Given the description of an element on the screen output the (x, y) to click on. 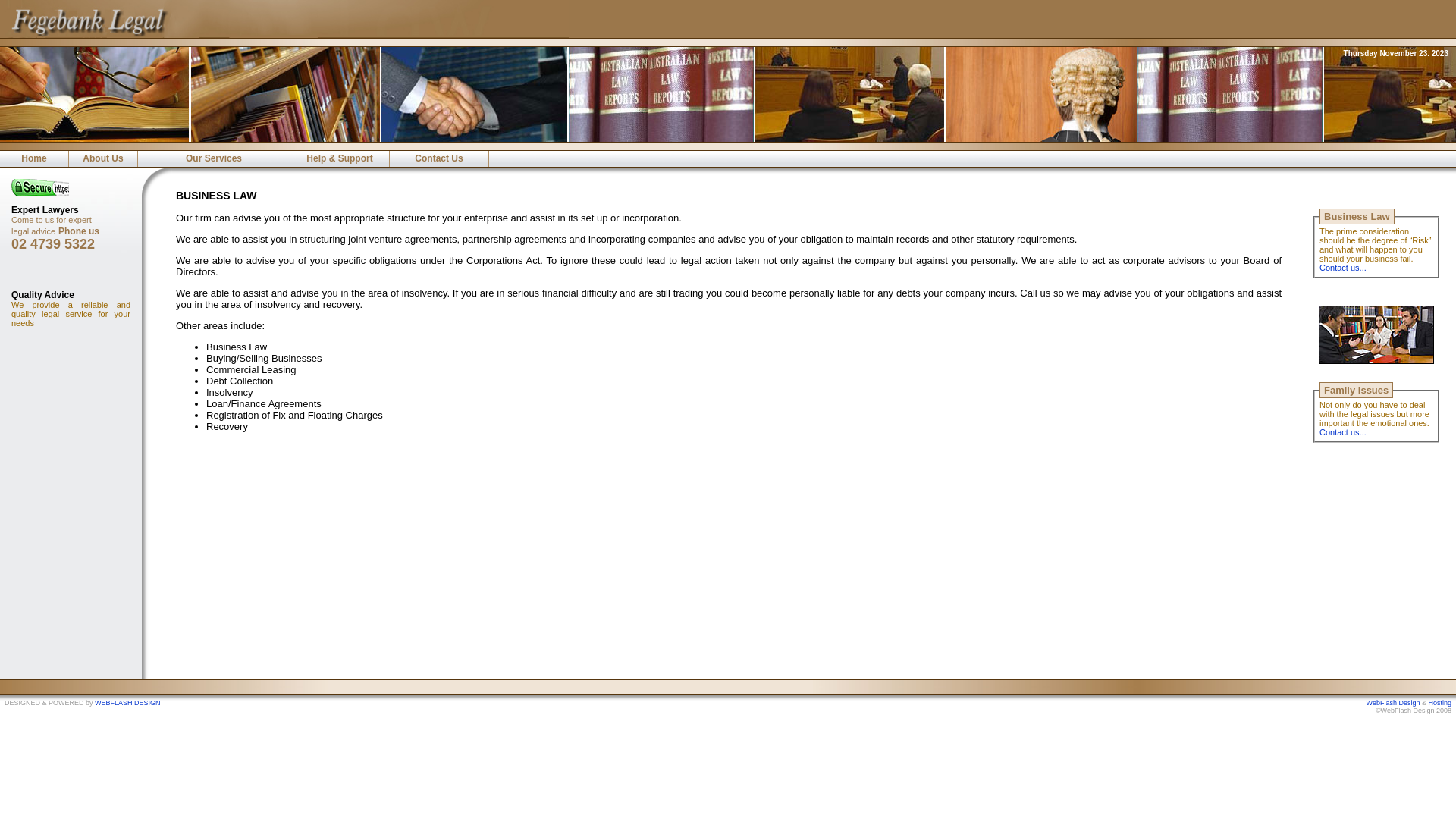
Hosting Element type: text (1439, 702)
Contact us... Element type: text (1342, 267)
WEBFLASH DESIGN Element type: text (127, 702)
Help & Support Element type: text (339, 158)
Contact us... Element type: text (1342, 431)
Our Services Element type: text (213, 158)
Home Element type: text (34, 158)
About Us Element type: text (103, 158)
Contact Us Element type: text (438, 158)
WebFlash Design Element type: text (1393, 702)
